Given the description of an element on the screen output the (x, y) to click on. 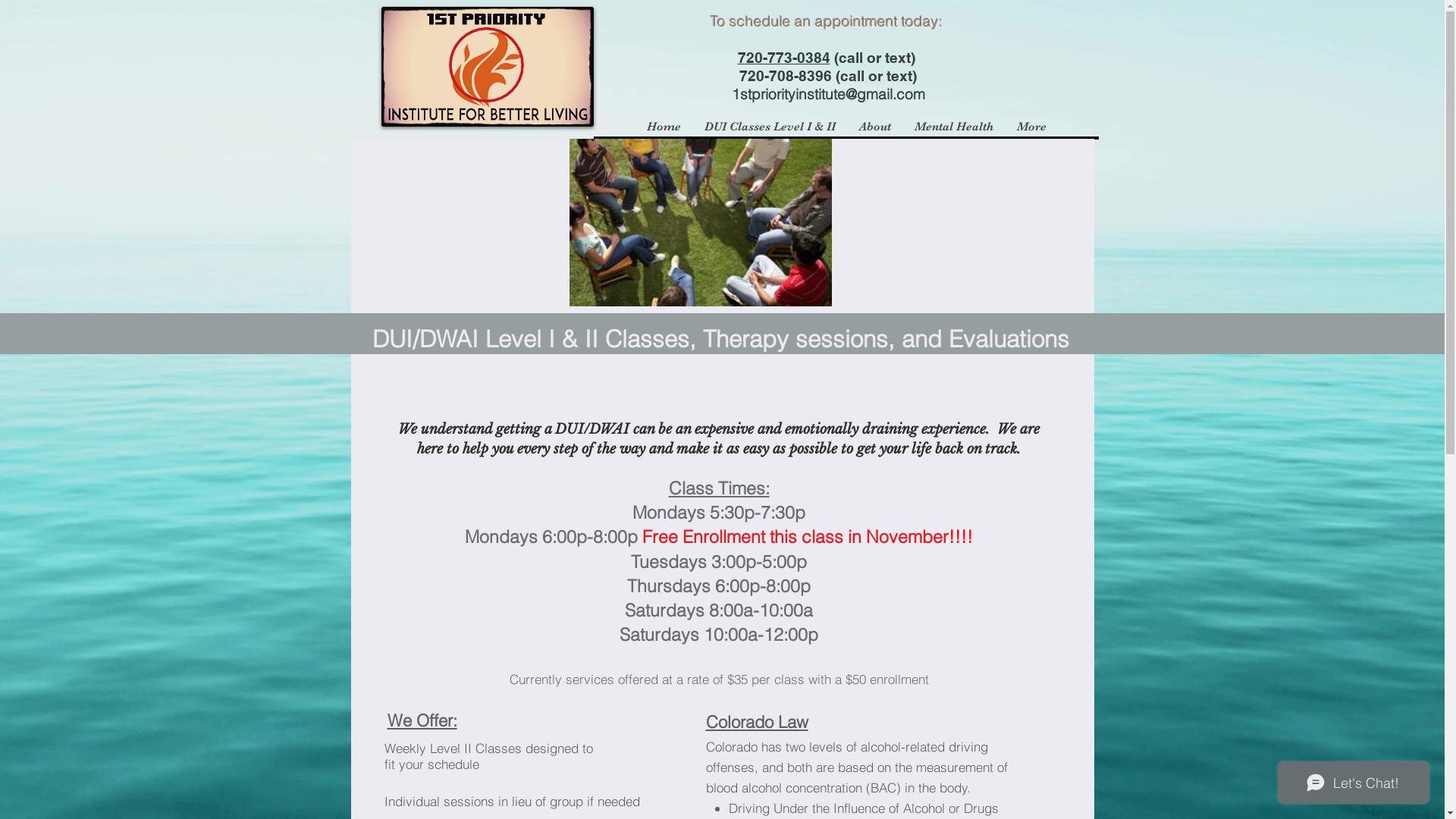
1stpriorityinstitute@gmail.com Element type: text (827, 93)
Home Element type: text (662, 126)
About Element type: text (873, 126)
720-773-0384 Element type: text (783, 57)
Mental Health Element type: text (953, 126)
DUI Classes Level I & II Element type: text (768, 126)
